Given the description of an element on the screen output the (x, y) to click on. 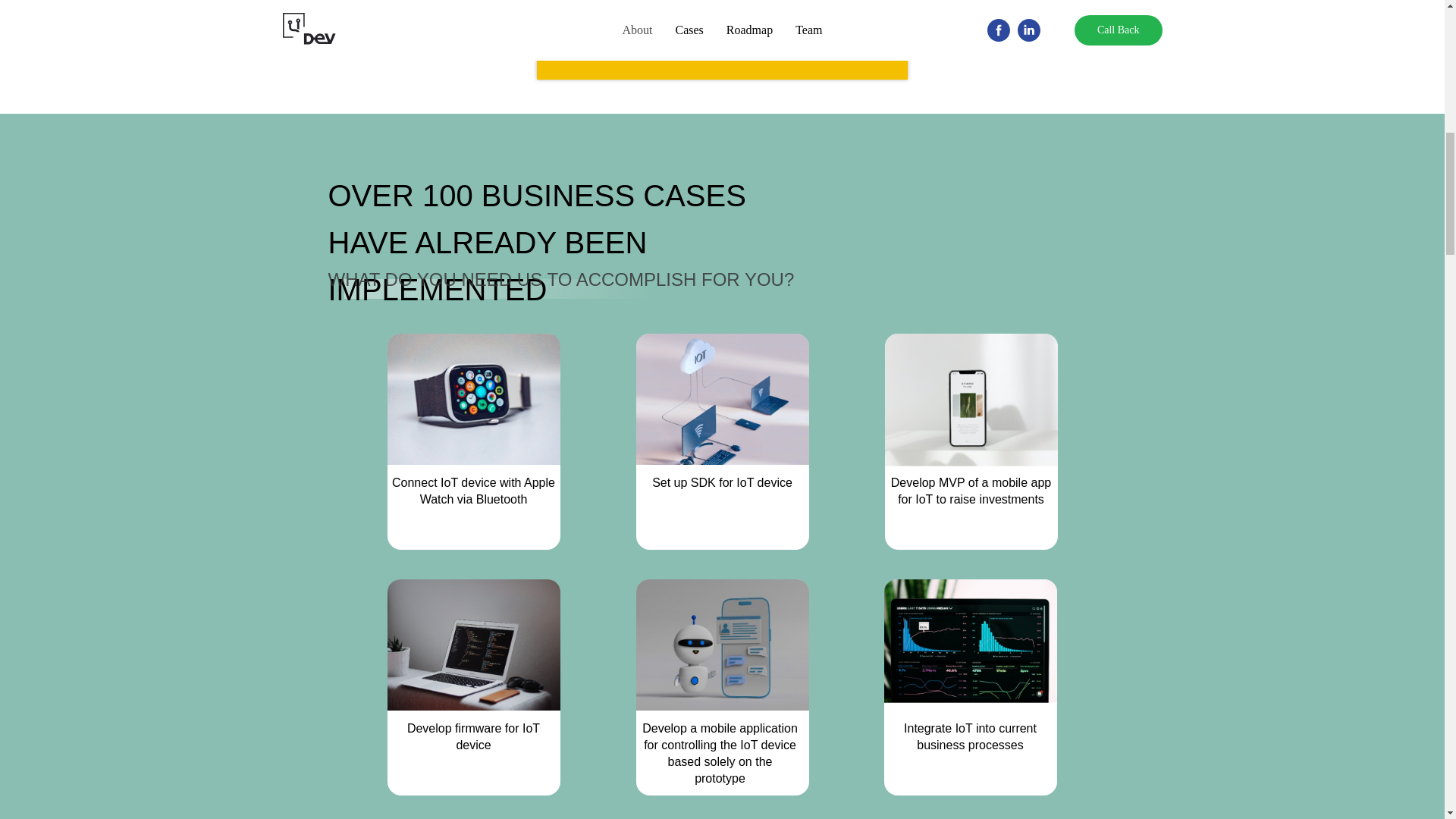
Book a 30-minute session for examination and estimation (722, 56)
